Given the description of an element on the screen output the (x, y) to click on. 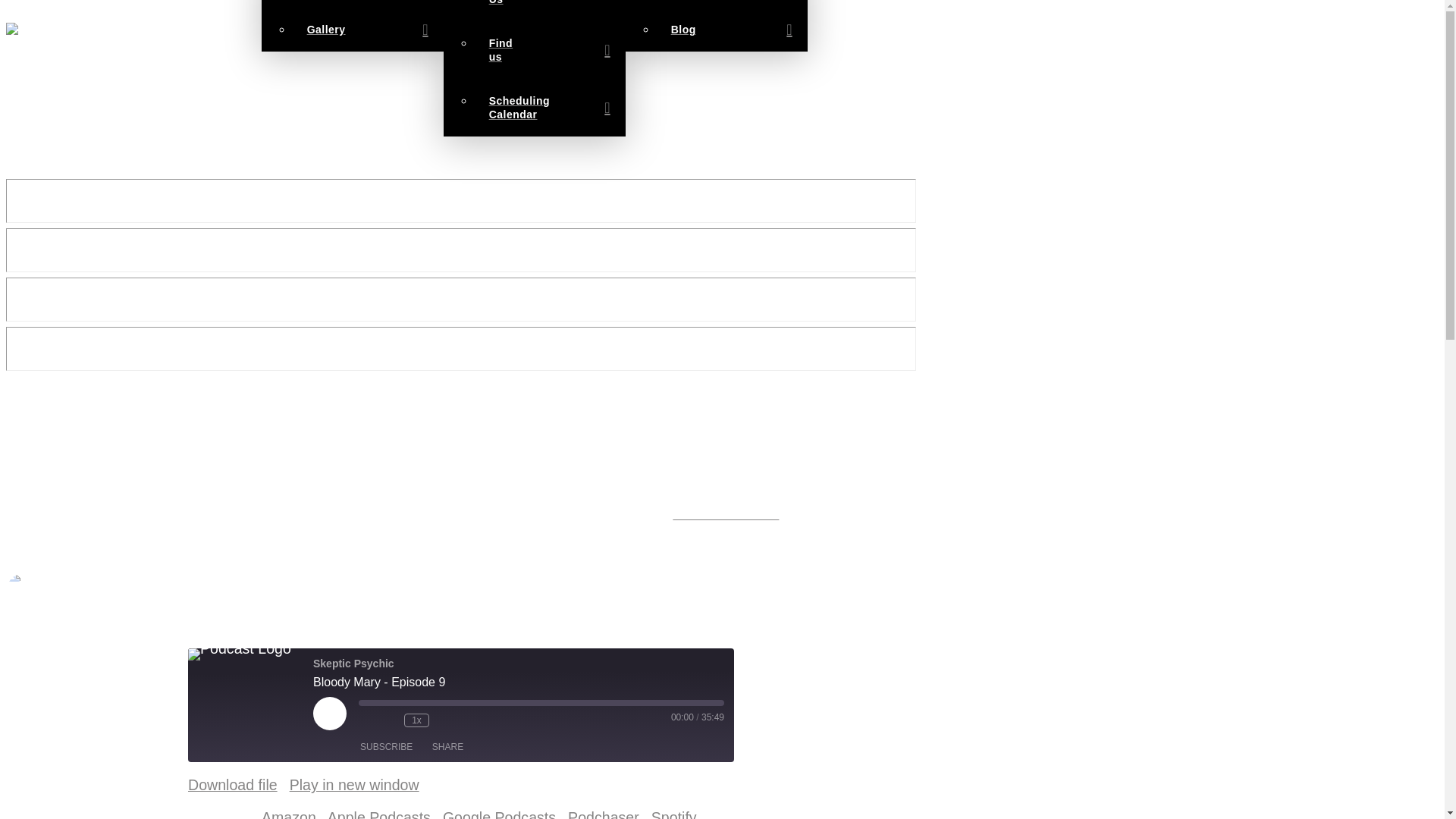
Fast Forward 30 seconds (443, 720)
SHARE (447, 746)
Rewind 10 Seconds (388, 720)
Subscribe (386, 746)
Play Episode (329, 713)
Rewind 10 seconds (388, 720)
Blog (732, 29)
Scheduling Calendar (550, 107)
Back to Podcast (460, 514)
Skeptic Psychic (239, 654)
